Given the description of an element on the screen output the (x, y) to click on. 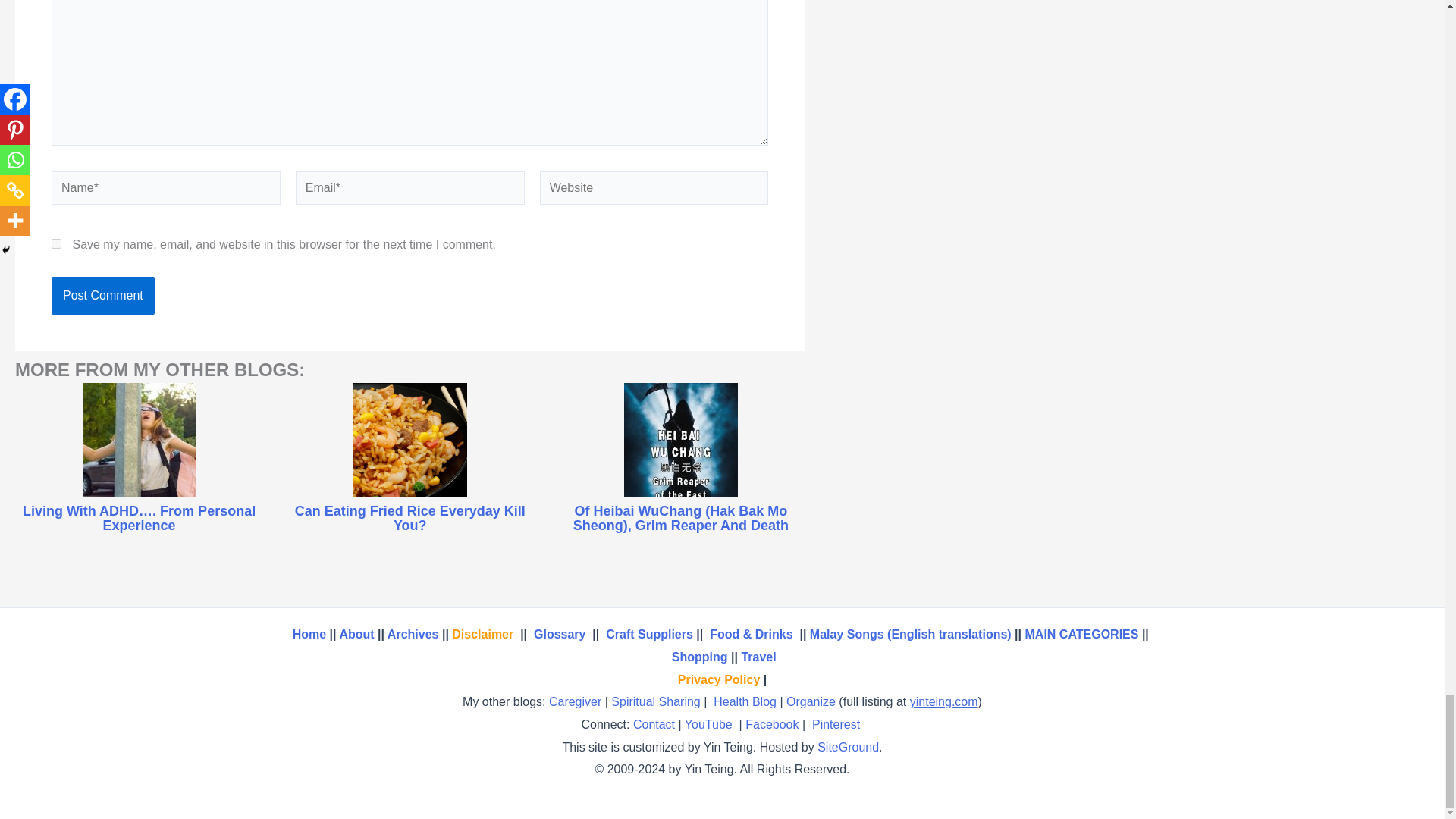
Can Eating Fried Rice Everyday Kill You? (409, 519)
Post Comment (102, 295)
yes (55, 243)
Post Comment (102, 295)
